Given the description of an element on the screen output the (x, y) to click on. 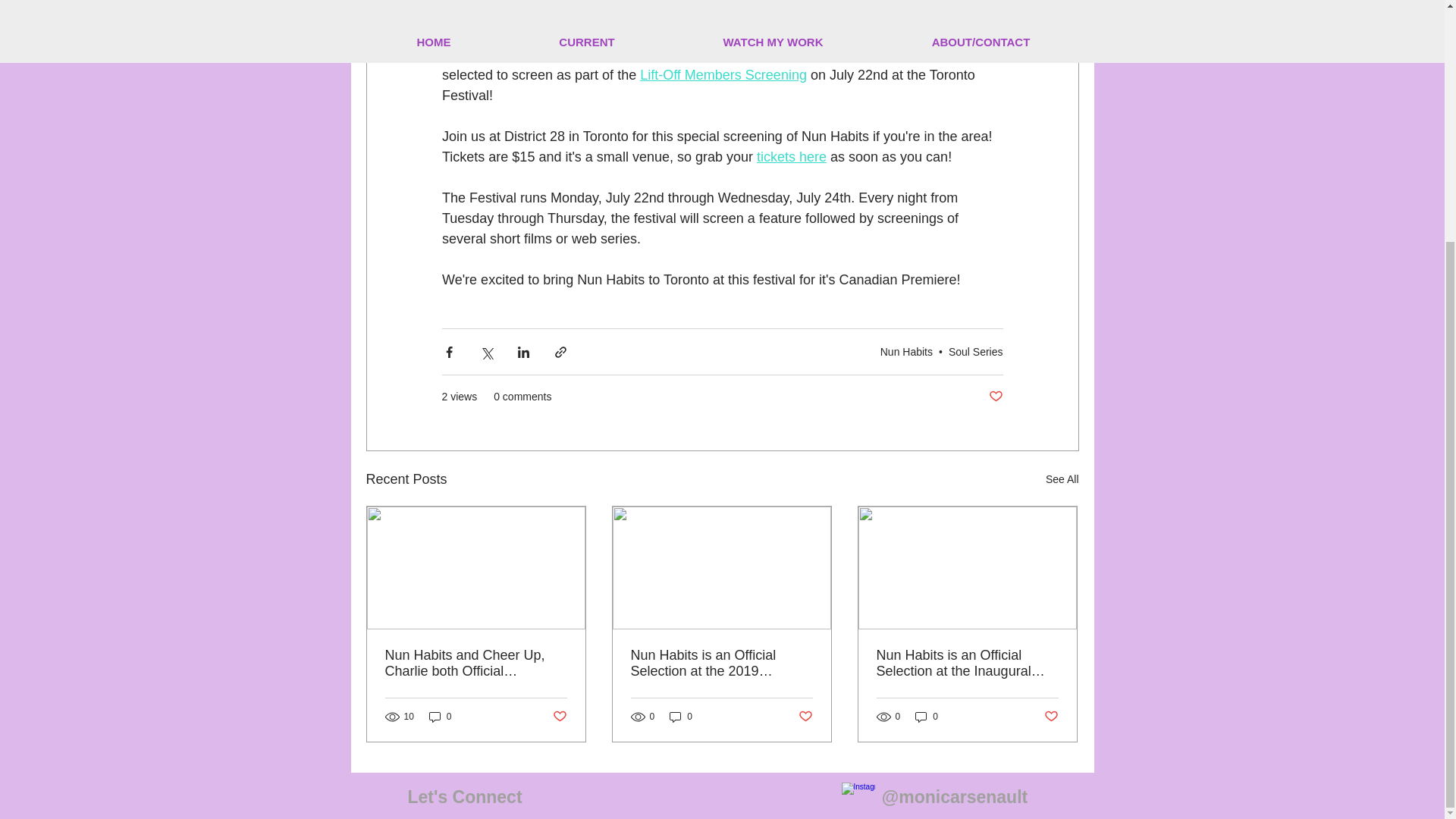
Post not marked as liked (804, 715)
Post not marked as liked (995, 396)
0 (681, 716)
See All (1061, 479)
Nun Habits (906, 351)
Soul Series (976, 351)
Post not marked as liked (558, 715)
